Given the description of an element on the screen output the (x, y) to click on. 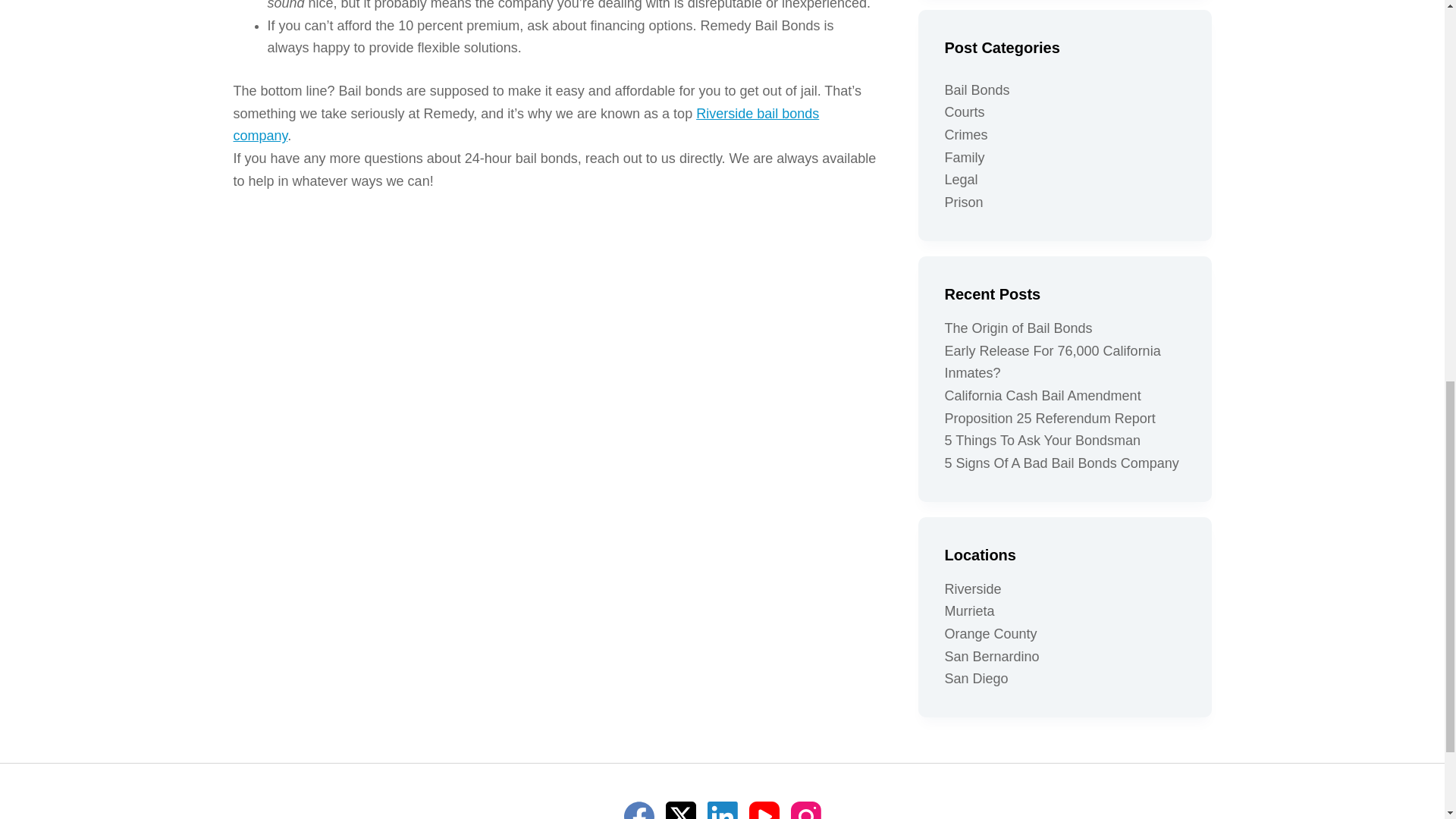
Courts (964, 111)
Bail Bonds (977, 89)
Riverside bail bonds company (525, 125)
Family (964, 157)
Crimes (966, 134)
